Given the description of an element on the screen output the (x, y) to click on. 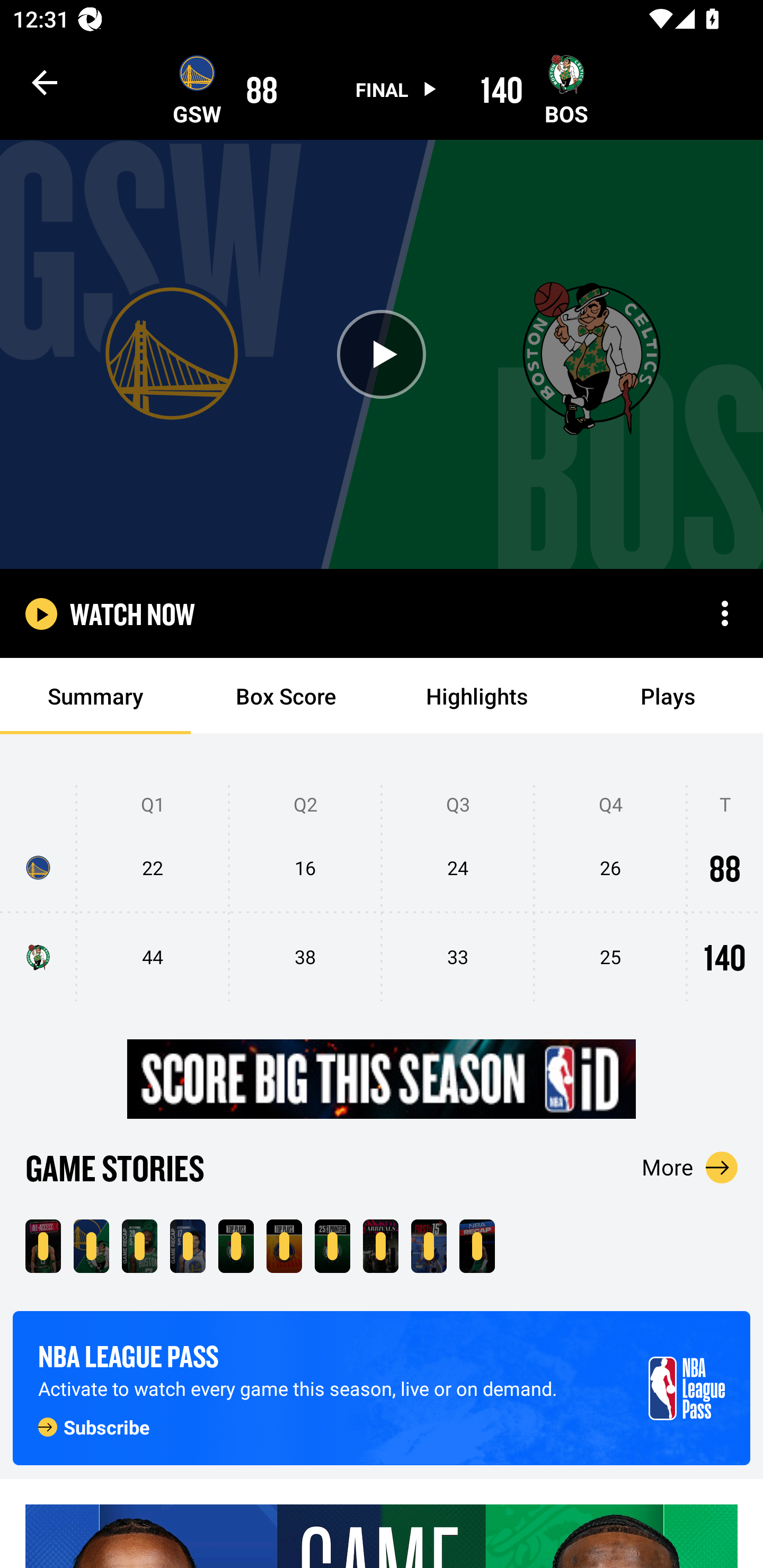
Navigate up (44, 82)
More options (724, 613)
WATCH NOW (132, 613)
Box Score (285, 695)
Highlights (476, 695)
Plays (667, 695)
Q1 Q2 Q3 Q4 T 22 16 24 26 88 44 38 33 25 140 (381, 893)
More (689, 1166)
Warriors And Celtics Clash At TD Garden 🍀 NEW (43, 1246)
BOS 140, GSW 88 - Mar 3 NEW (91, 1246)
Highlights From Jaylen Brown's 29-Point Game NEW (139, 1246)
Highlights From Lester Quinones' 17-Point Game NEW (187, 1246)
BOS' Top Plays from GSW vs. BOS NEW (236, 1246)
GSW's Top Plays from GSW vs. BOS NEW (284, 1246)
All 3-pointers from BOS' 25 3-pointer Night NEW (332, 1246)
Steppin' Into Sunday 🔥 NEW (380, 1246)
First To 15, Mar. 3rd NEW (428, 1246)
Sunday's Recap NEW (477, 1246)
